Given the description of an element on the screen output the (x, y) to click on. 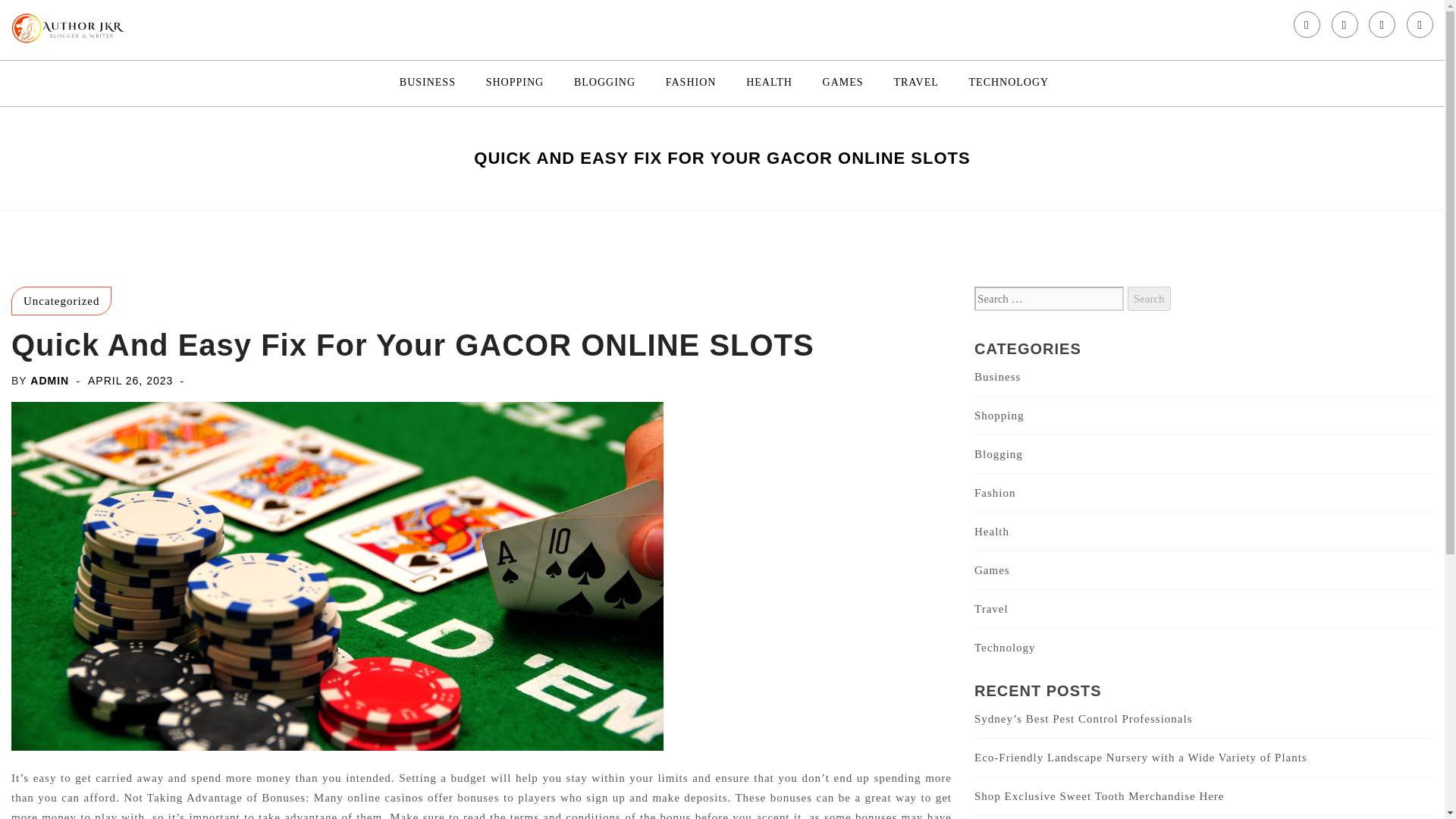
Search (1148, 298)
BUSINESS (427, 83)
BLOGGING (604, 83)
HEALTH (769, 83)
Blogging (998, 453)
Search (1148, 298)
Business (997, 377)
GAMES (842, 83)
Shopping (999, 415)
Games (992, 570)
APRIL 26, 2023 (130, 380)
Uncategorized (61, 300)
Search (1148, 298)
Health (991, 531)
ADMIN (49, 380)
